Given the description of an element on the screen output the (x, y) to click on. 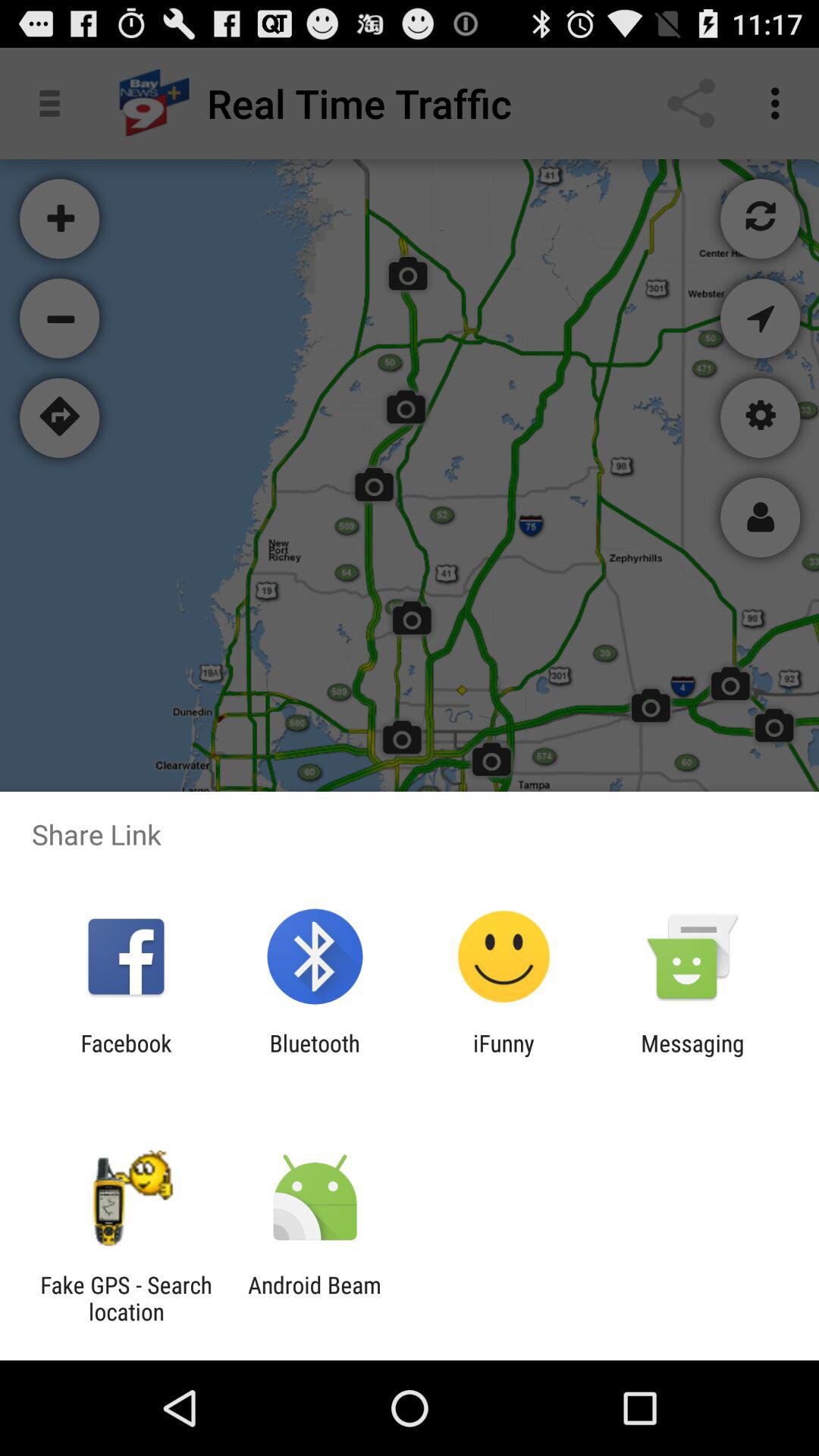
select the icon to the left of android beam app (125, 1298)
